Given the description of an element on the screen output the (x, y) to click on. 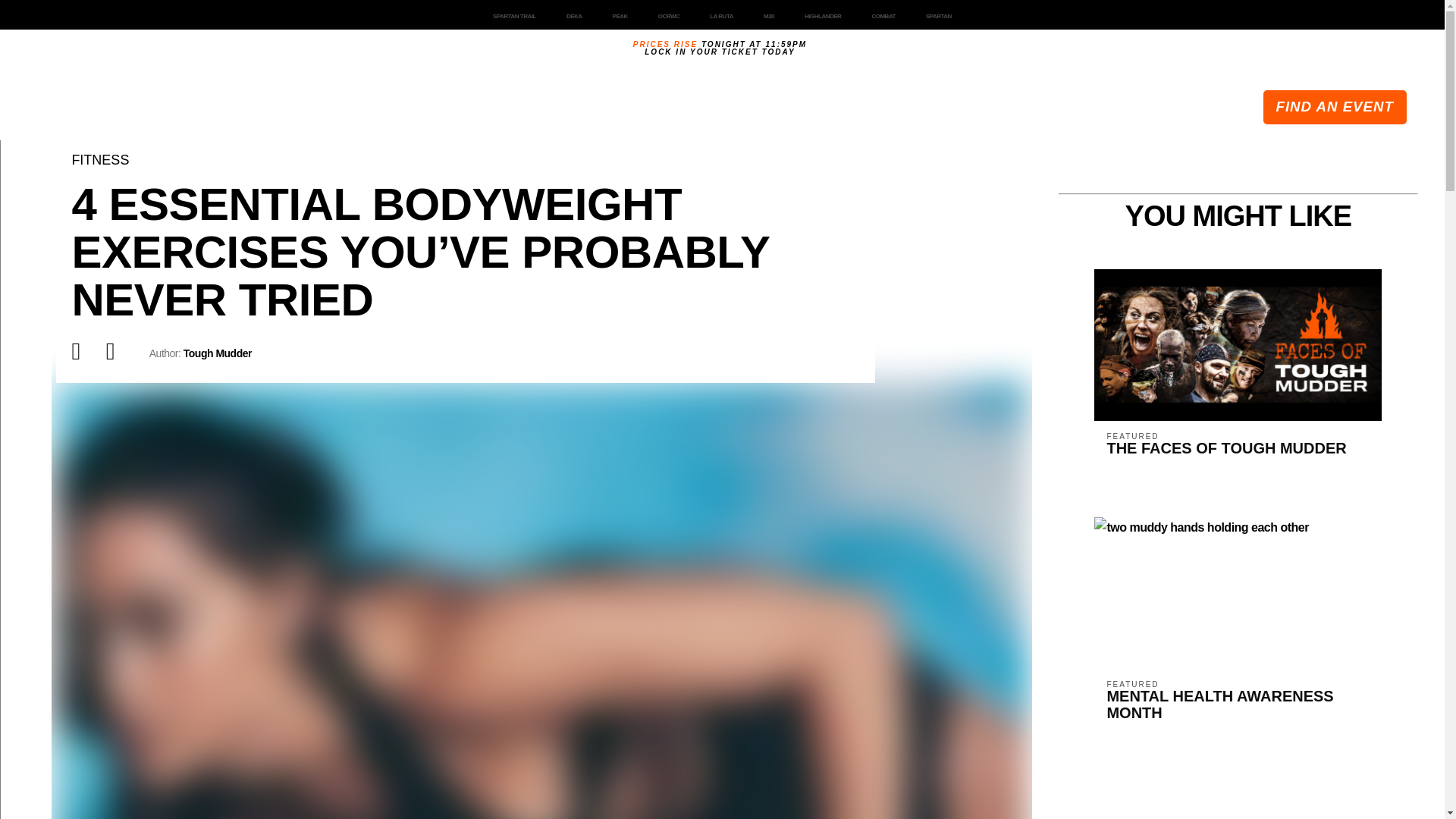
PEAK (619, 16)
COMBAT (883, 14)
Mental Health Awareness Month (1219, 698)
M20 (768, 16)
M20 (768, 14)
LA RUTA (721, 14)
HIGHLANDER (823, 16)
COMBAT (882, 16)
HIGHLANDER (822, 14)
Mental Health Awareness Month (1201, 533)
OCRWC (668, 14)
SPARTAN TRAIL (514, 16)
THE FACES OF TOUGH MUDDER (1225, 442)
PEAK (619, 16)
